Given the description of an element on the screen output the (x, y) to click on. 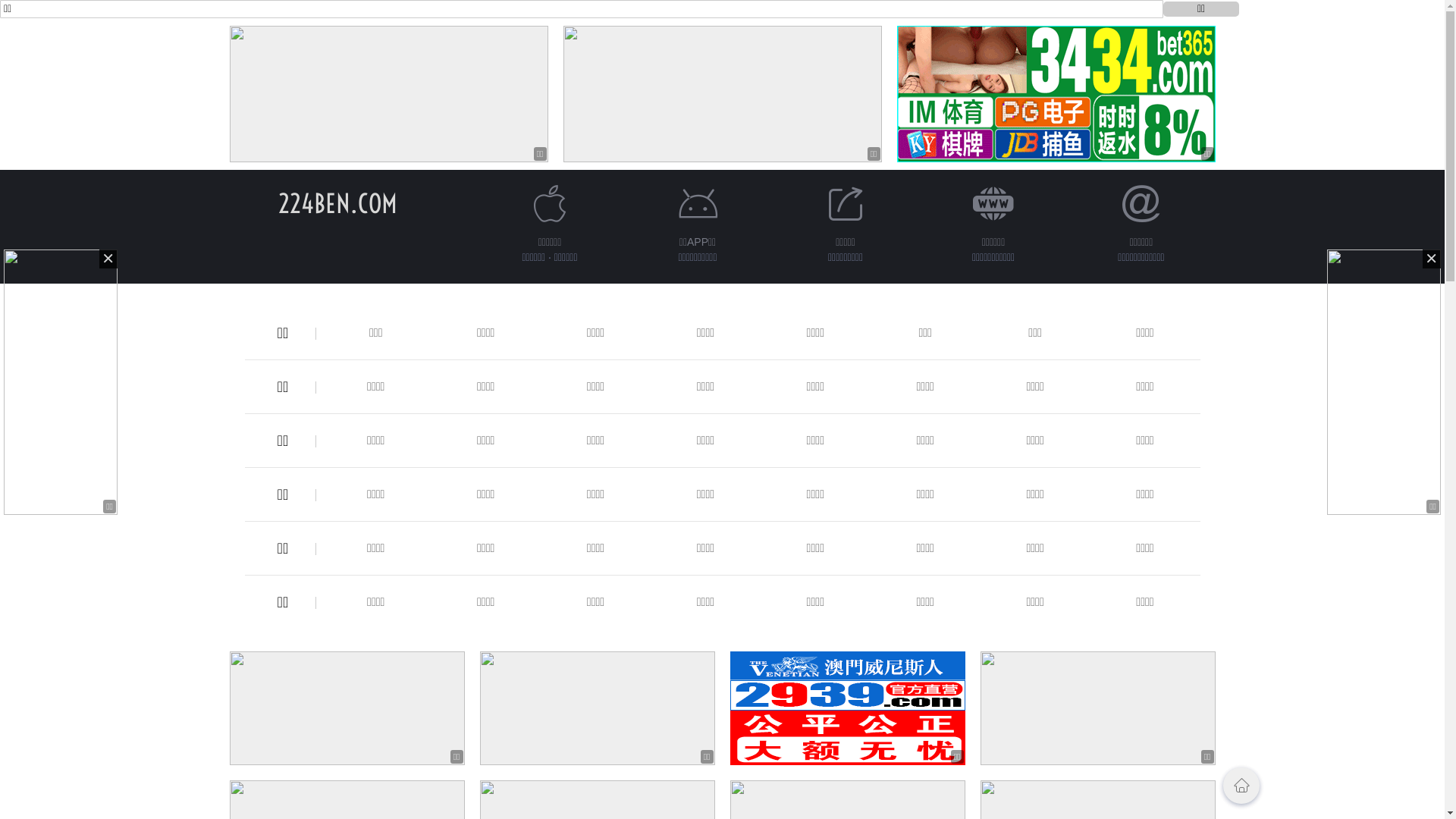
224BEN.COM Element type: text (337, 203)
